Given the description of an element on the screen output the (x, y) to click on. 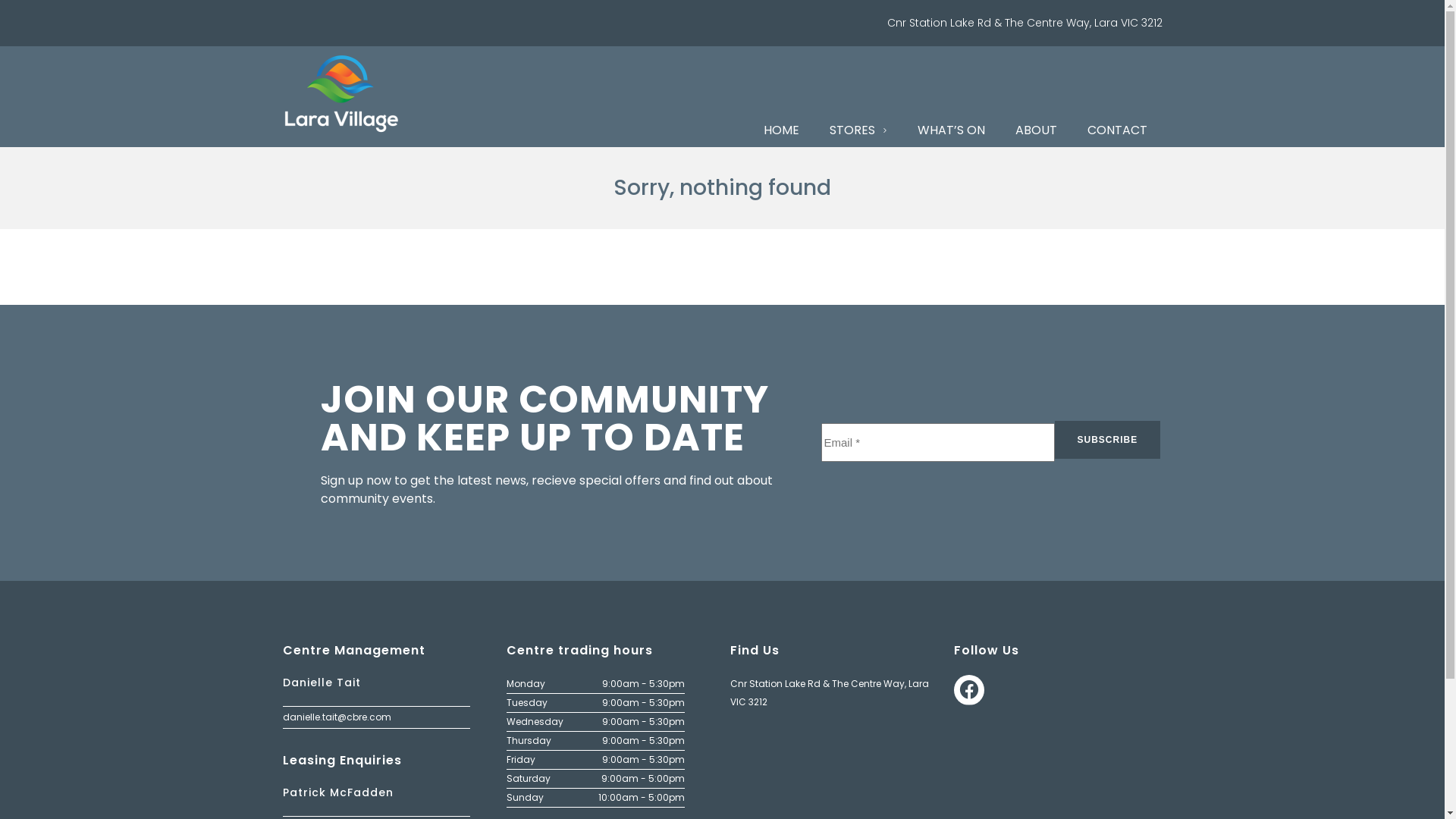
ABOUT Element type: text (1035, 130)
STORES Element type: text (858, 130)
HOME Element type: text (780, 130)
CONTACT Element type: text (1117, 130)
Subscribe Element type: text (1107, 439)
